Given the description of an element on the screen output the (x, y) to click on. 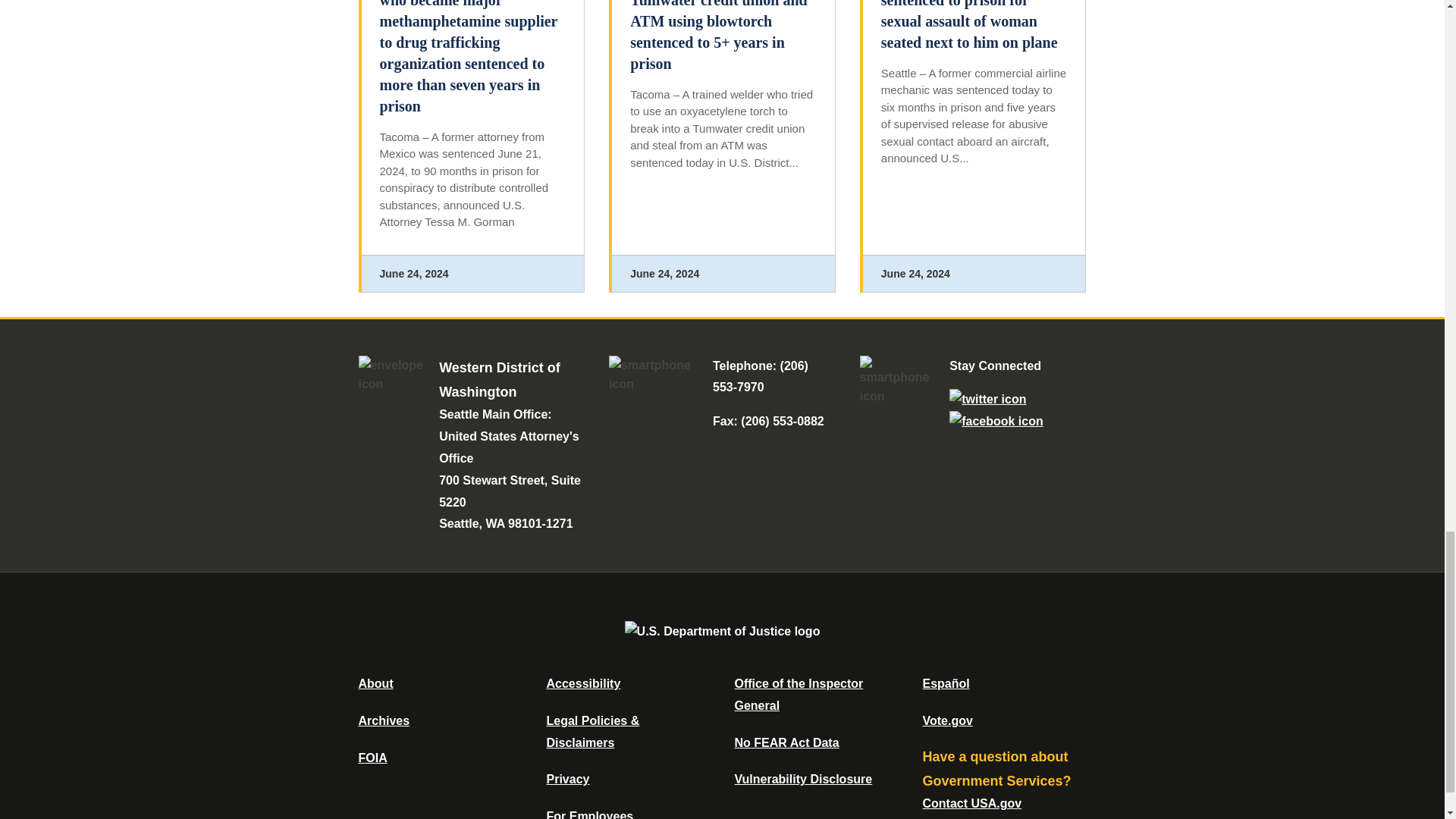
Department of Justice Archive (383, 720)
About DOJ (375, 683)
Office of Information Policy (372, 757)
For Employees (589, 814)
Accessibility Statement (583, 683)
Legal Policies and Disclaimers (592, 731)
Data Posted Pursuant To The No Fear Act (785, 742)
